Given the description of an element on the screen output the (x, y) to click on. 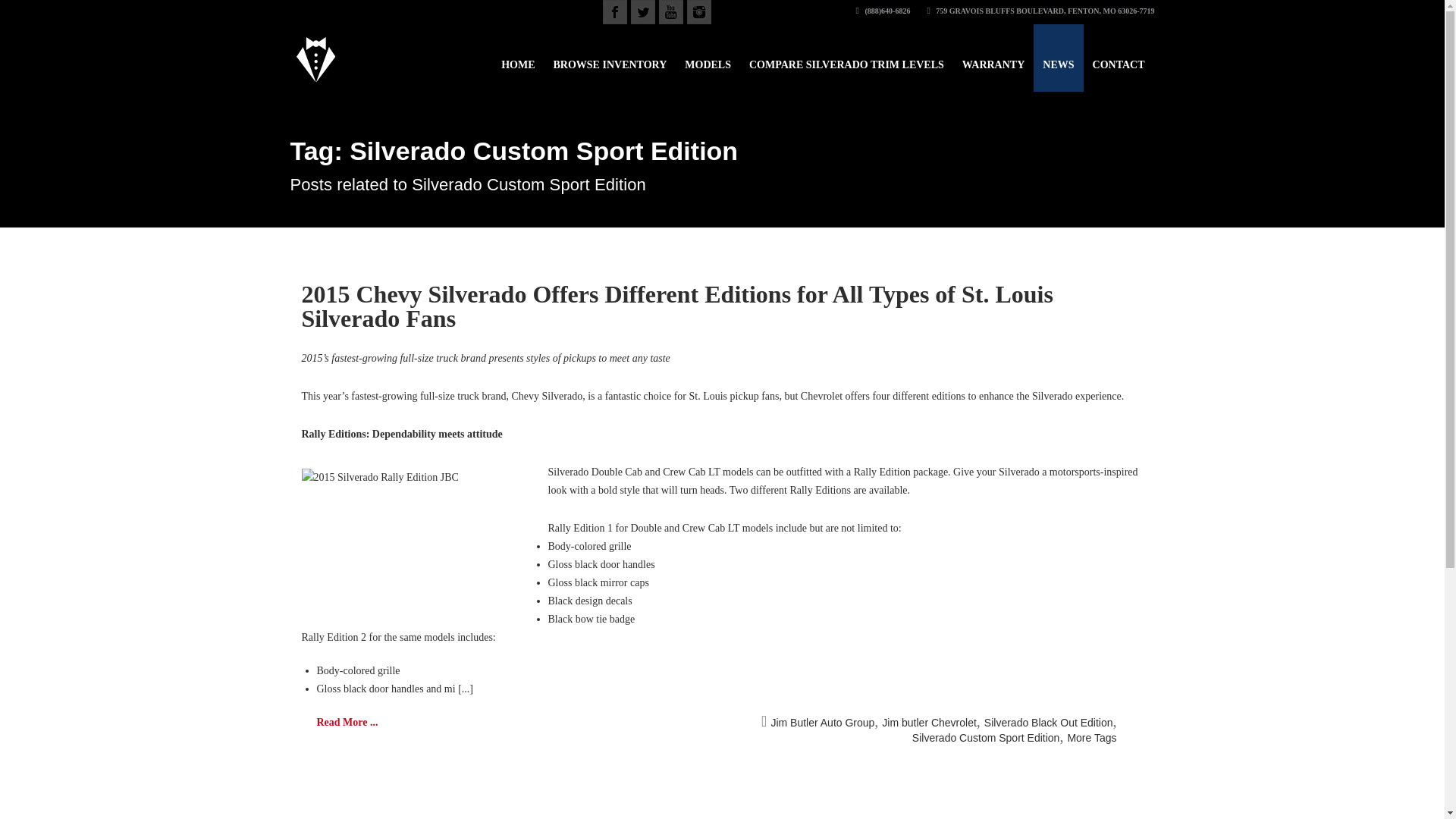
MODELS (707, 57)
759 GRAVOIS BLUFFS BOULEVARD, FENTON, MO 63026-7719 (1040, 10)
COMPARE SILVERADO TRIM LEVELS (846, 57)
Silverado Black Out Edition (1048, 722)
Jim butler Chevrolet (929, 722)
BROWSE INVENTORY (610, 57)
Silverado Custom Sport Edition (985, 737)
CONTACT (1118, 57)
Read More ... (347, 722)
Jim Butler Auto Group (822, 722)
Silverado Black Out Edition Tag (1048, 722)
WARRANTY (993, 57)
Jim Butler Auto Group Tag (822, 722)
More Tags (1091, 737)
Jim butler Chevrolet Tag (929, 722)
